Given the description of an element on the screen output the (x, y) to click on. 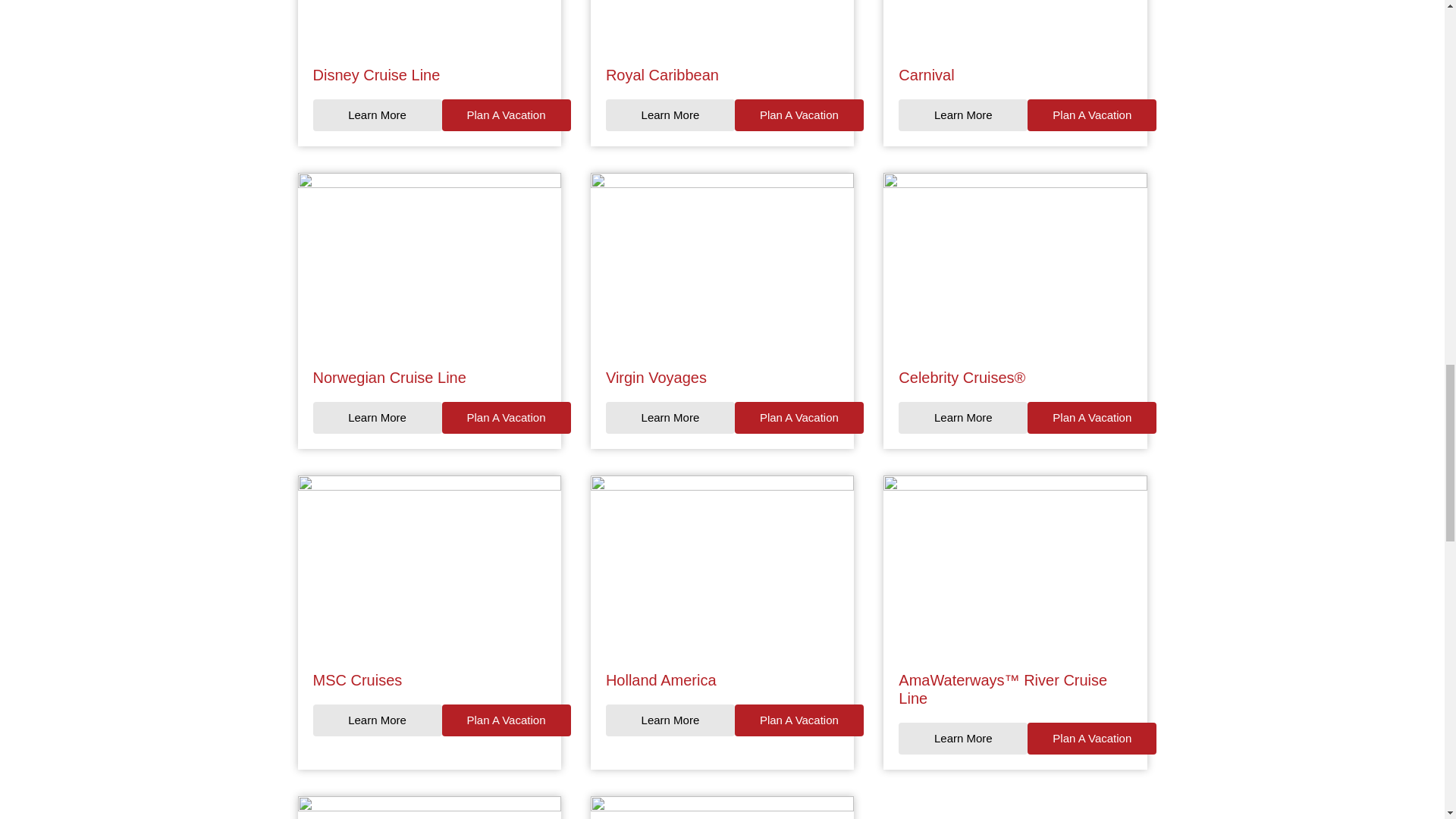
Plan A Vacation (505, 115)
Learn More (670, 418)
Learn More (377, 418)
Plan A Vacation (505, 418)
Disney Cruise Line (376, 74)
Learn More (670, 115)
Norwegian Cruise Line (389, 377)
Plan A Vacation (799, 418)
Royal Caribbean (662, 74)
Learn More (962, 115)
